Given the description of an element on the screen output the (x, y) to click on. 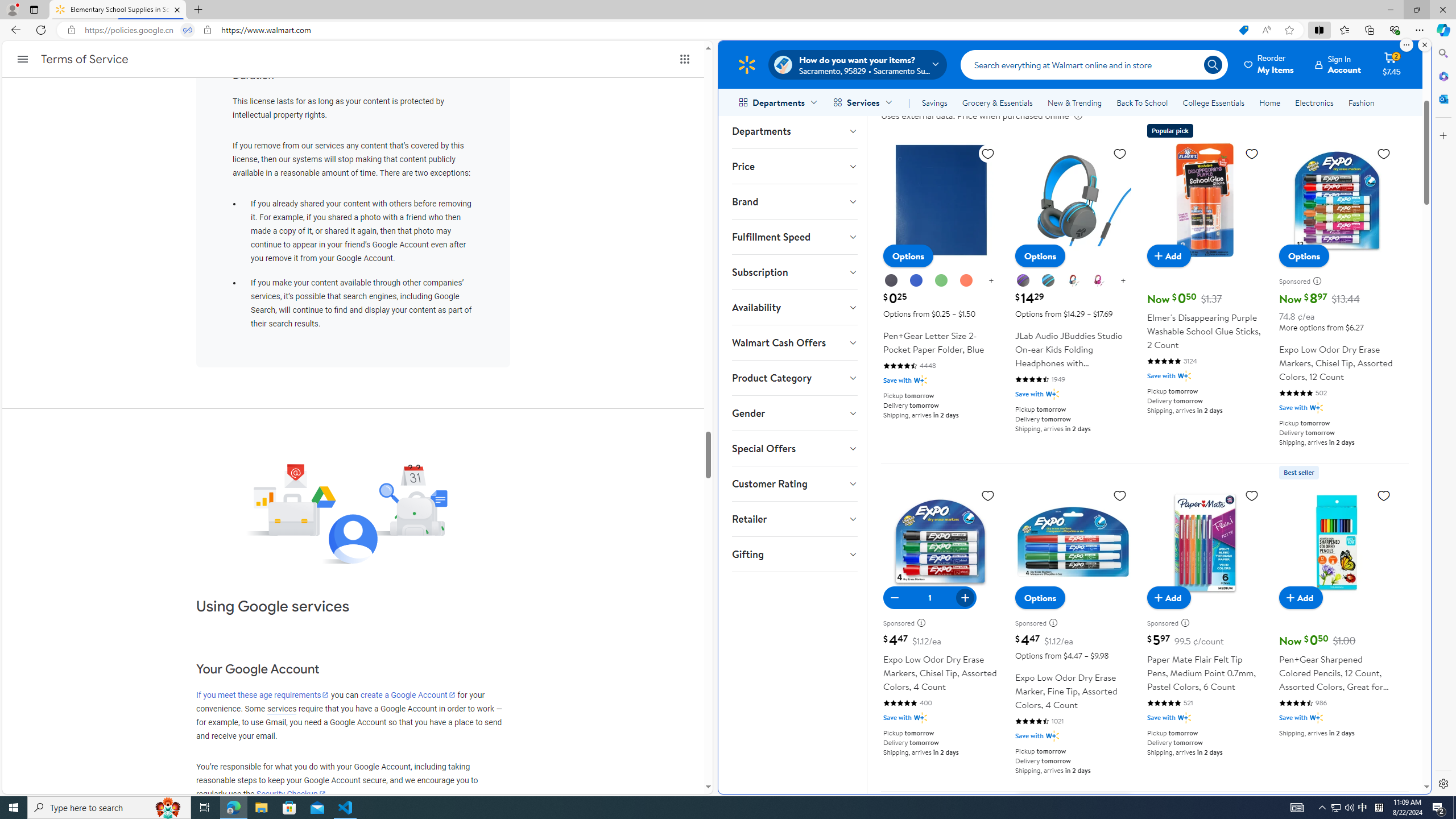
Gifting (794, 554)
Price (794, 166)
Search (1093, 64)
College Essentials (1213, 102)
Gifting (794, 554)
Customer Rating (794, 483)
Electronics (1314, 102)
Grocery & Essentials (997, 102)
New & Trending (1075, 102)
Microsoft 365 (1442, 76)
Browser essentials (1394, 29)
